Given the description of an element on the screen output the (x, y) to click on. 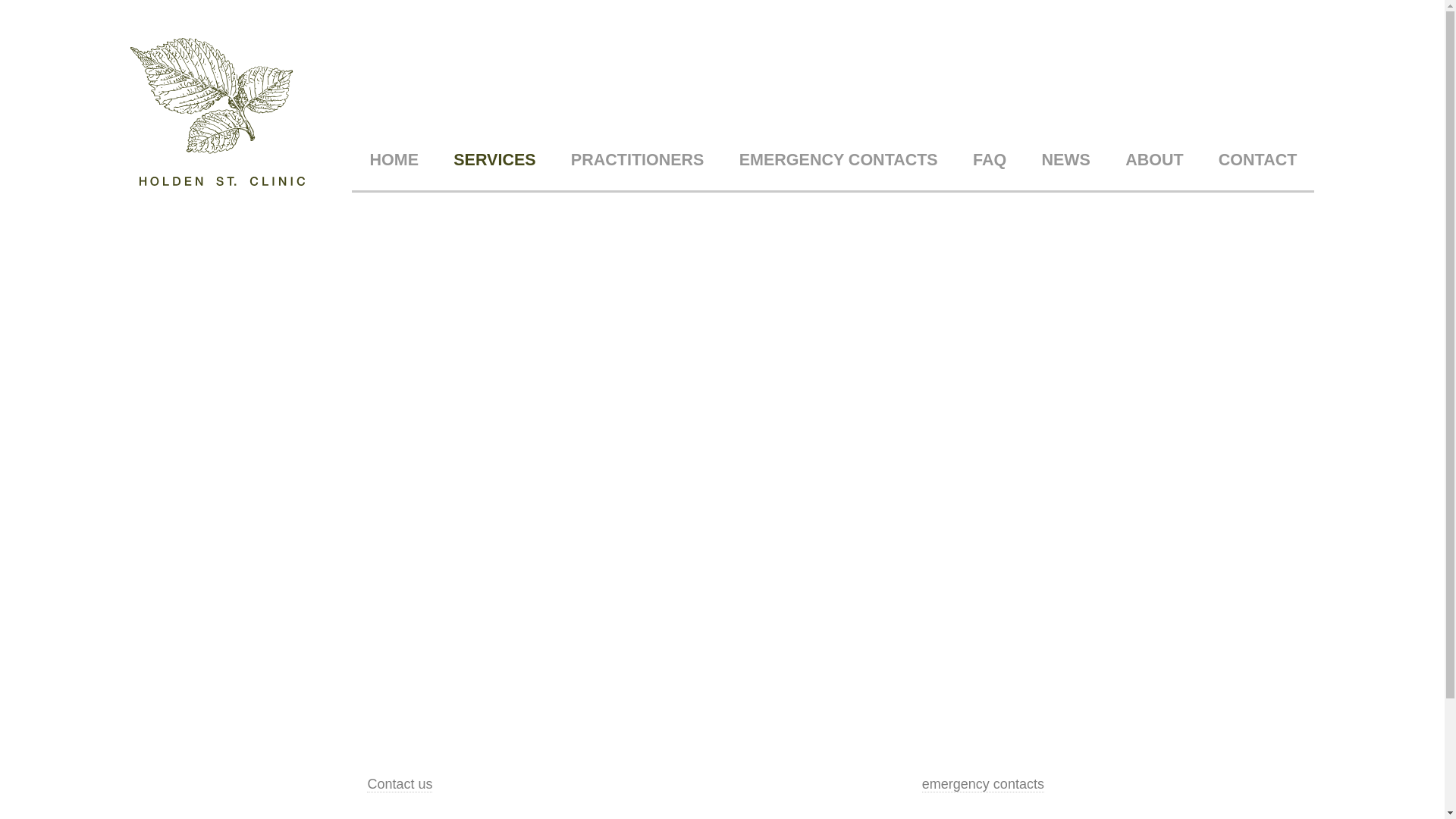
PRACTITIONERS Element type: text (637, 159)
FAQ Element type: text (989, 159)
HOME Element type: text (393, 159)
SERVICES Element type: text (494, 159)
EMERGENCY CONTACTS Element type: text (838, 159)
Contact us Element type: text (399, 784)
emergency contacts Element type: text (983, 784)
NEWS Element type: text (1065, 159)
ABOUT Element type: text (1154, 159)
CONTACT Element type: text (1257, 159)
